Given the description of an element on the screen output the (x, y) to click on. 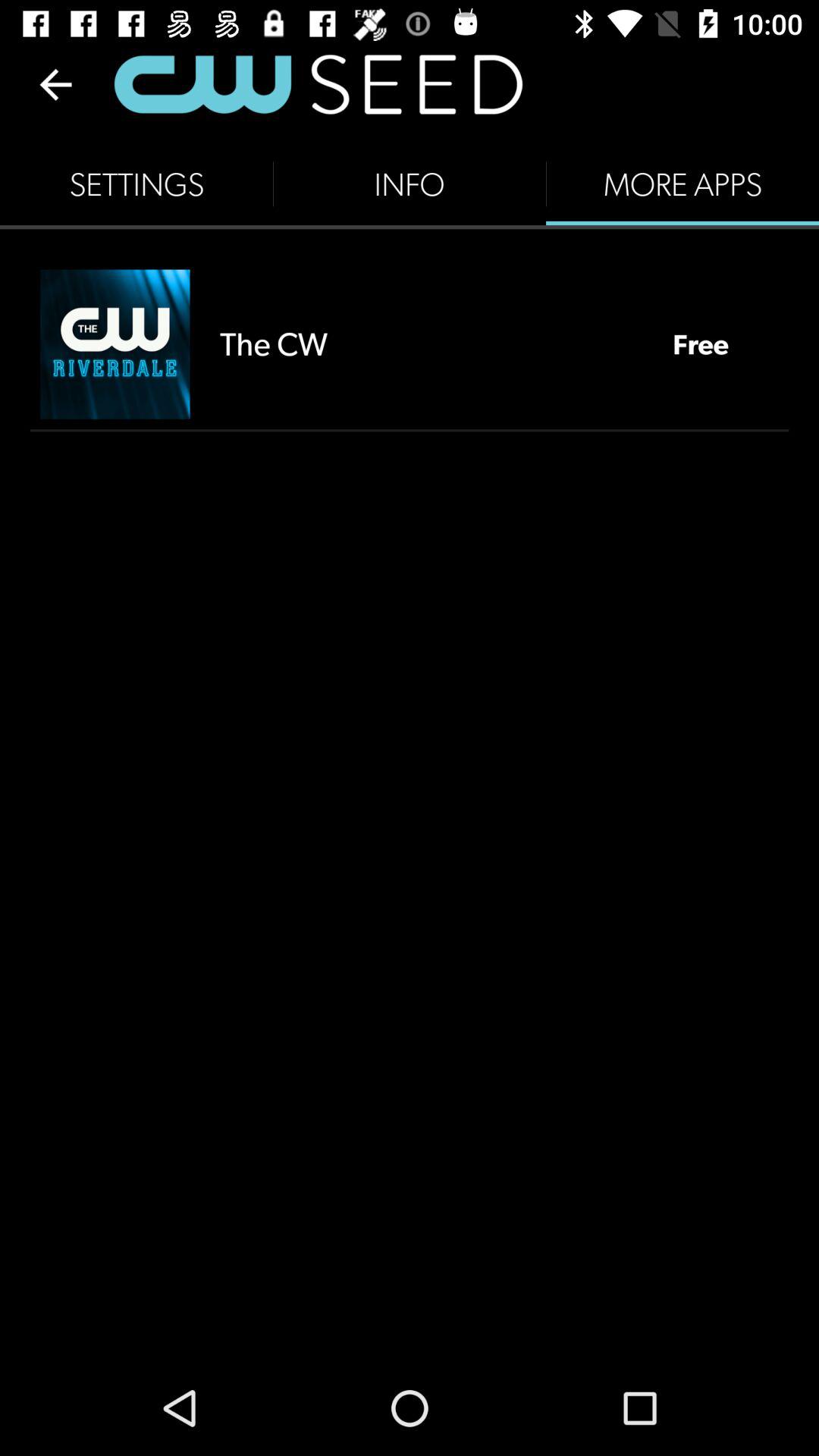
choose the icon to the right of the settings (409, 184)
